Given the description of an element on the screen output the (x, y) to click on. 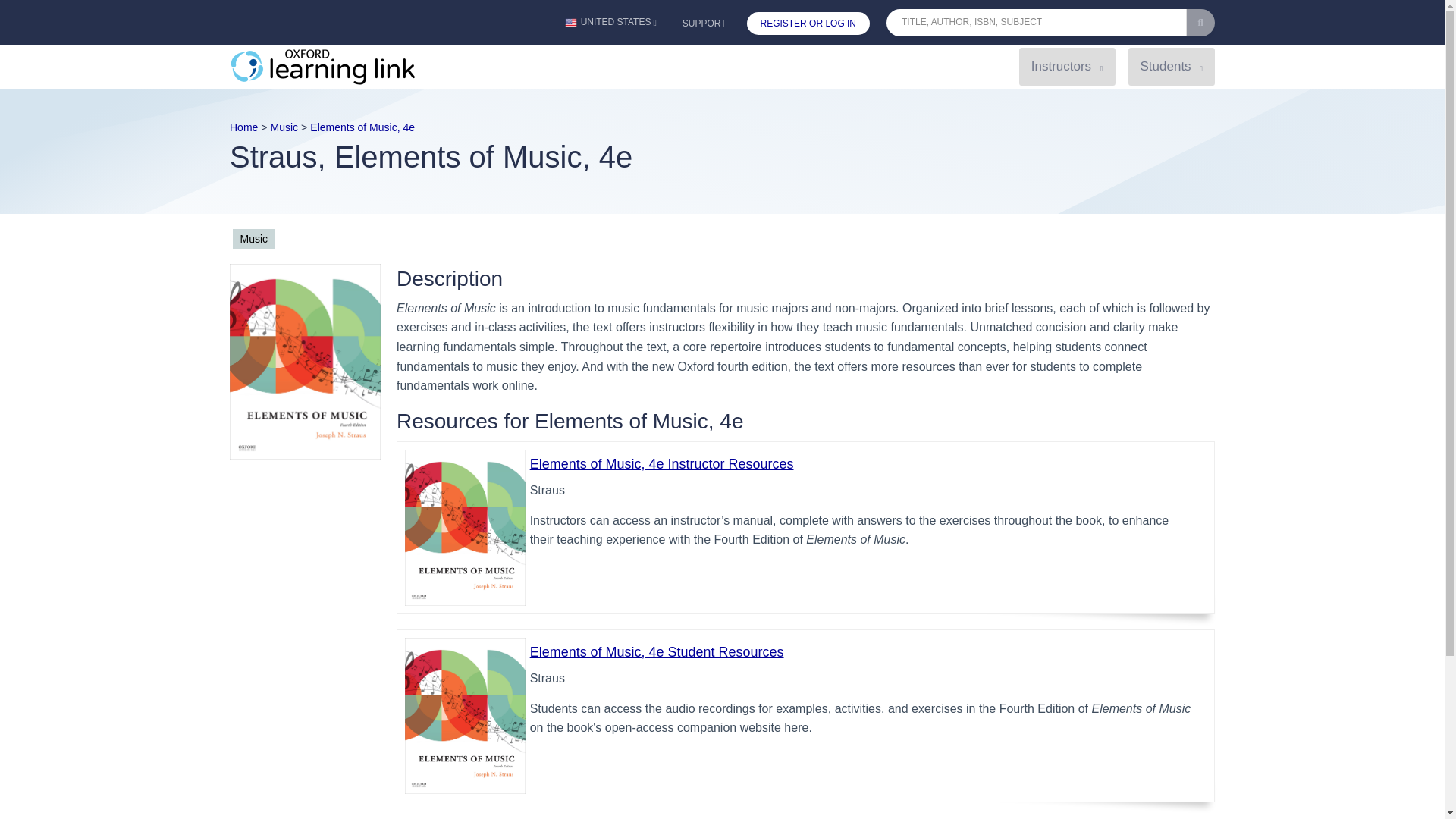
Instructors (1067, 66)
Elements of Music, 4e Student Resources (656, 652)
UNITED STATES (610, 22)
Home (243, 127)
Music (284, 127)
REGISTER OR LOG IN (808, 23)
Students (1171, 66)
Elements of Music, 4e Instructor Resources (661, 463)
Skip to main content (722, 30)
Elements of Music, 4e (362, 127)
